Given the description of an element on the screen output the (x, y) to click on. 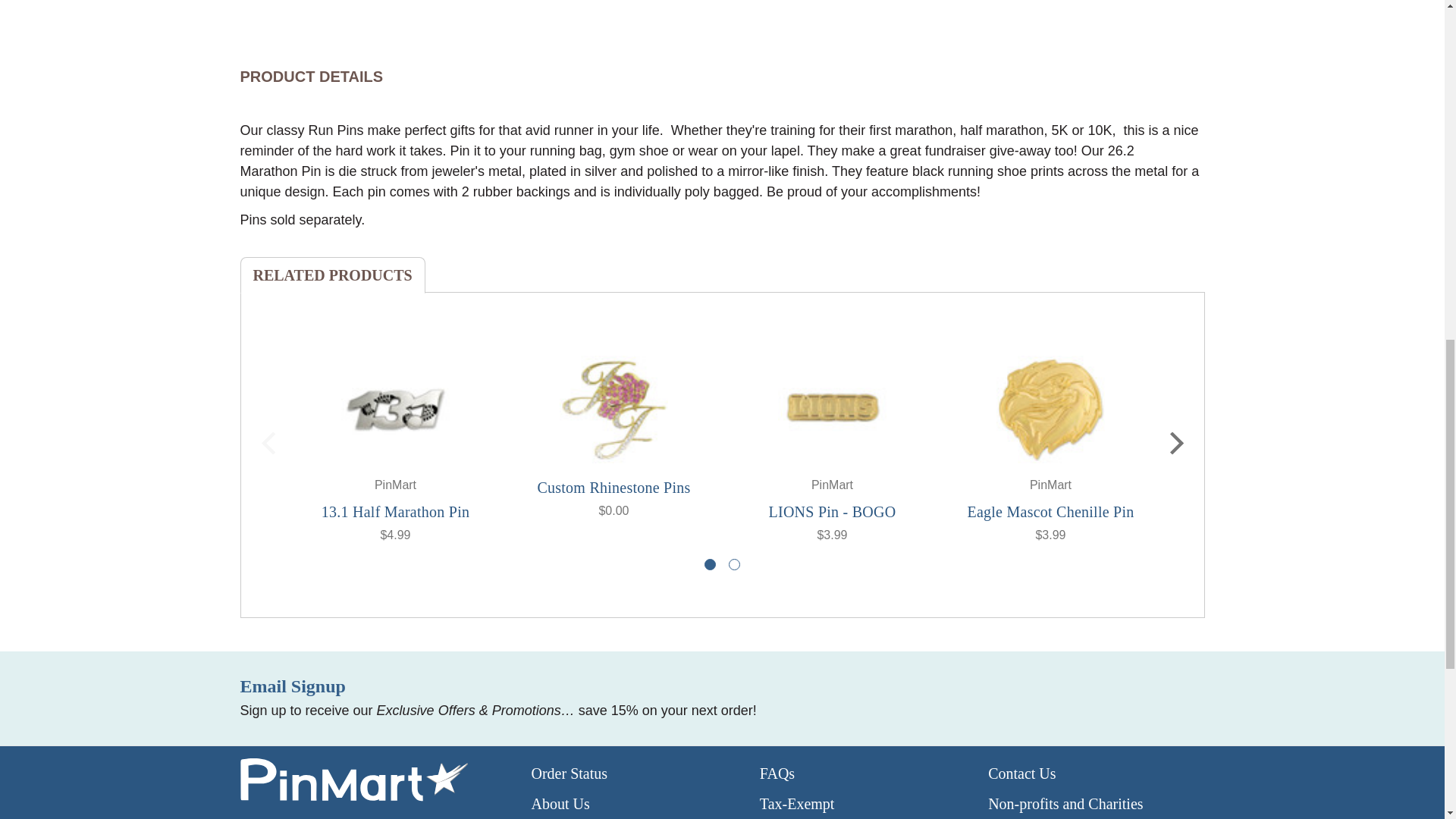
13.1 Half Marathon Pin Front (395, 409)
Custom Rhinestone Pins (613, 409)
Lions Pin Front (831, 409)
Eagle Mascot Chenille Pin Front (1050, 409)
